Given the description of an element on the screen output the (x, y) to click on. 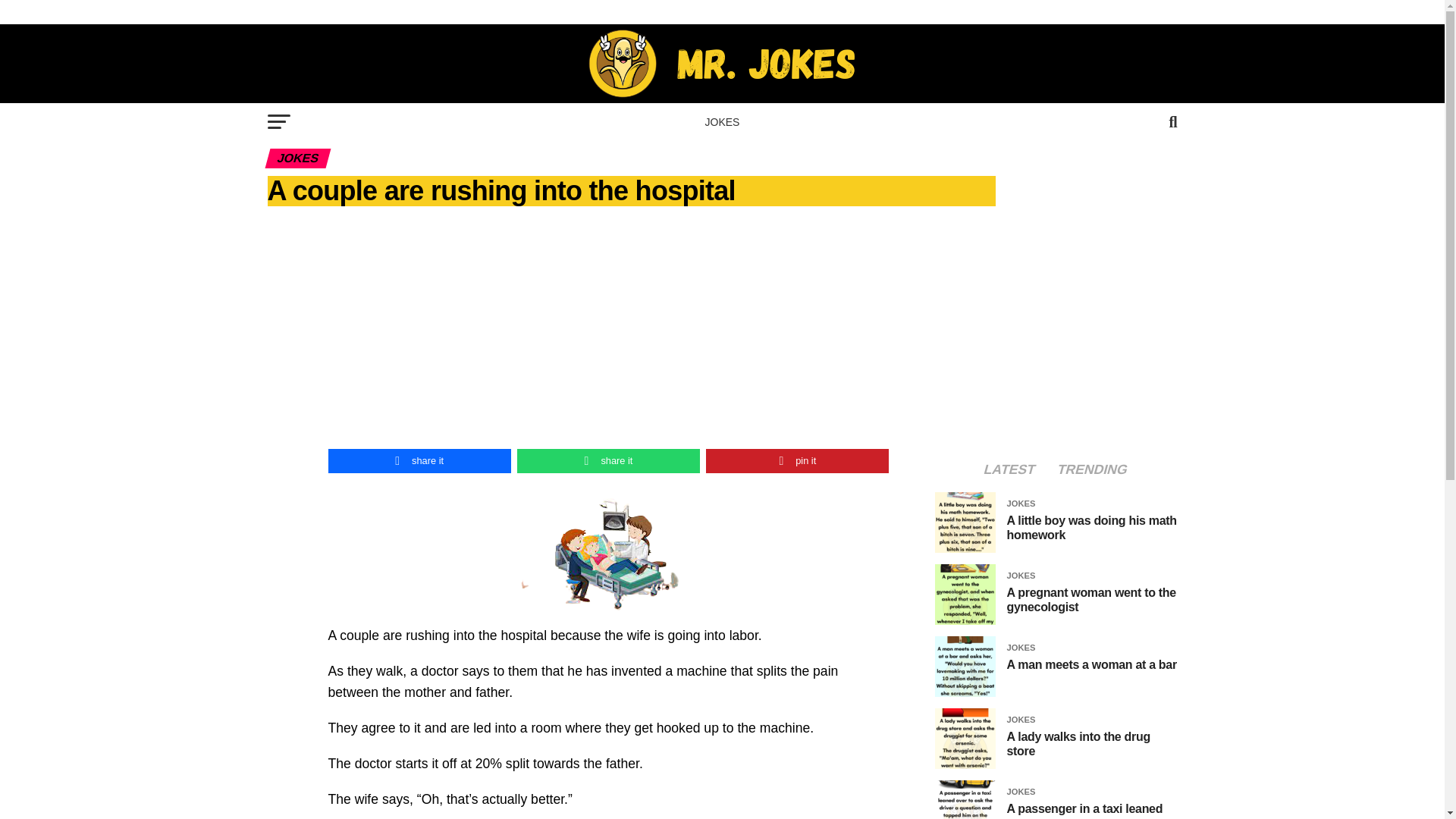
JOKES (722, 121)
Share this on Facebook (419, 460)
LATEST (1009, 469)
pin it (797, 460)
share it (608, 460)
WhatsApp (608, 460)
Submit this to Pinterest (797, 460)
share it (419, 460)
TRENDING (1092, 469)
